Given the description of an element on the screen output the (x, y) to click on. 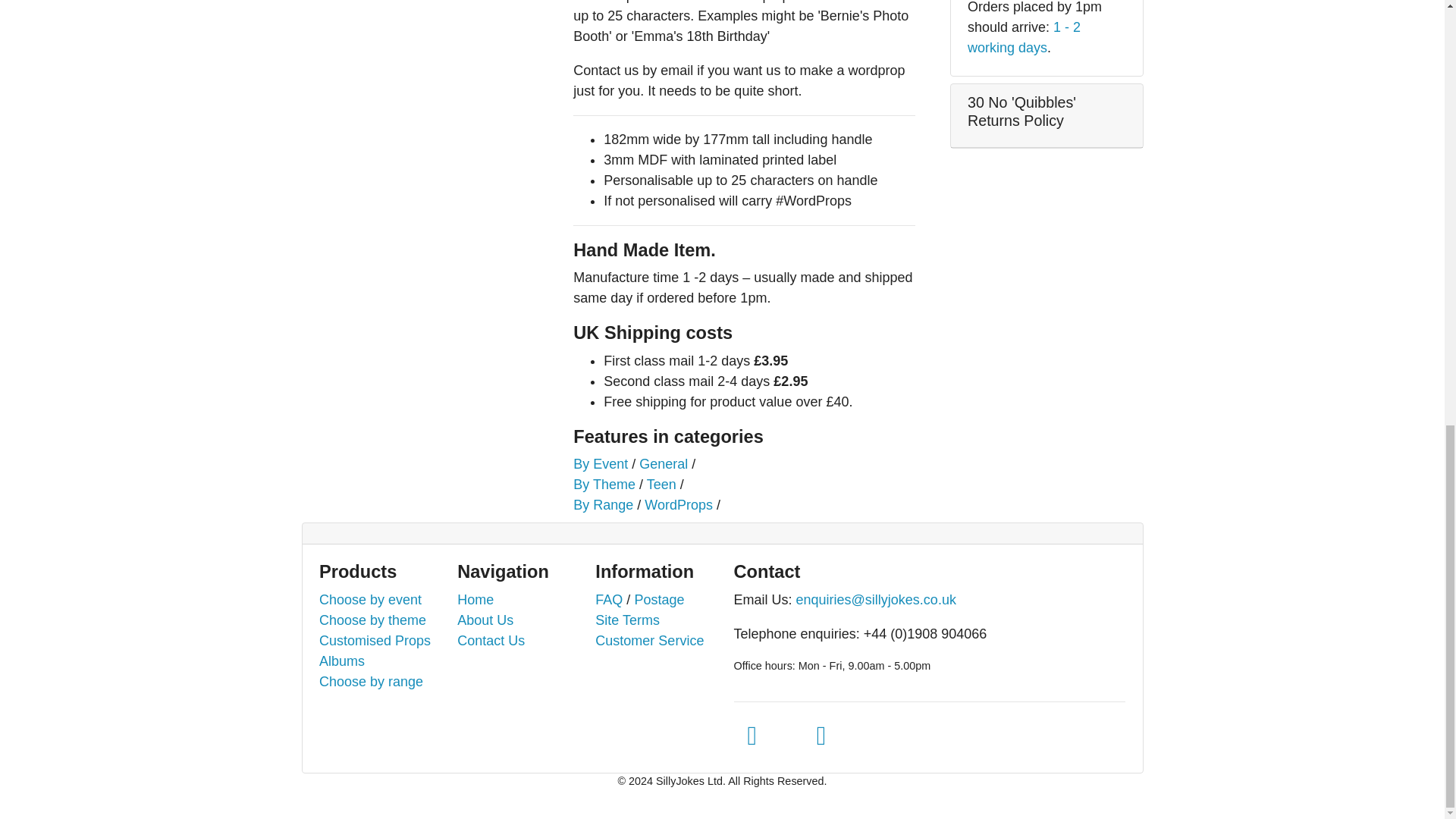
Twitter (752, 735)
Facebook (821, 735)
